Given the description of an element on the screen output the (x, y) to click on. 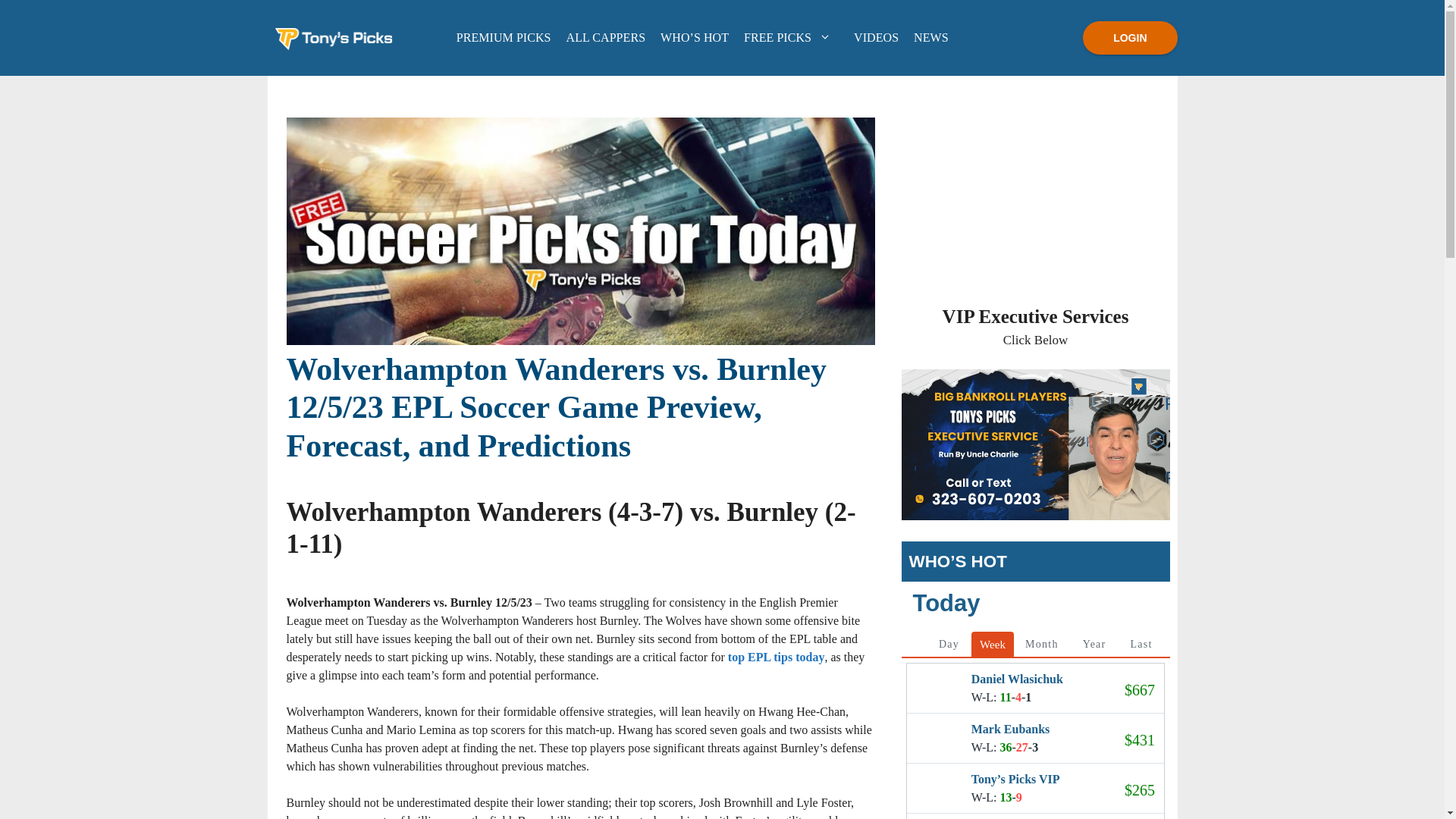
ALL CAPPERS (606, 37)
VIDEOS (875, 37)
FREE PICKS (790, 37)
LOGIN (1129, 37)
top EPL tips today (776, 656)
PREMIUM PICKS (503, 37)
NEWS (930, 37)
Today (1035, 703)
